Given the description of an element on the screen output the (x, y) to click on. 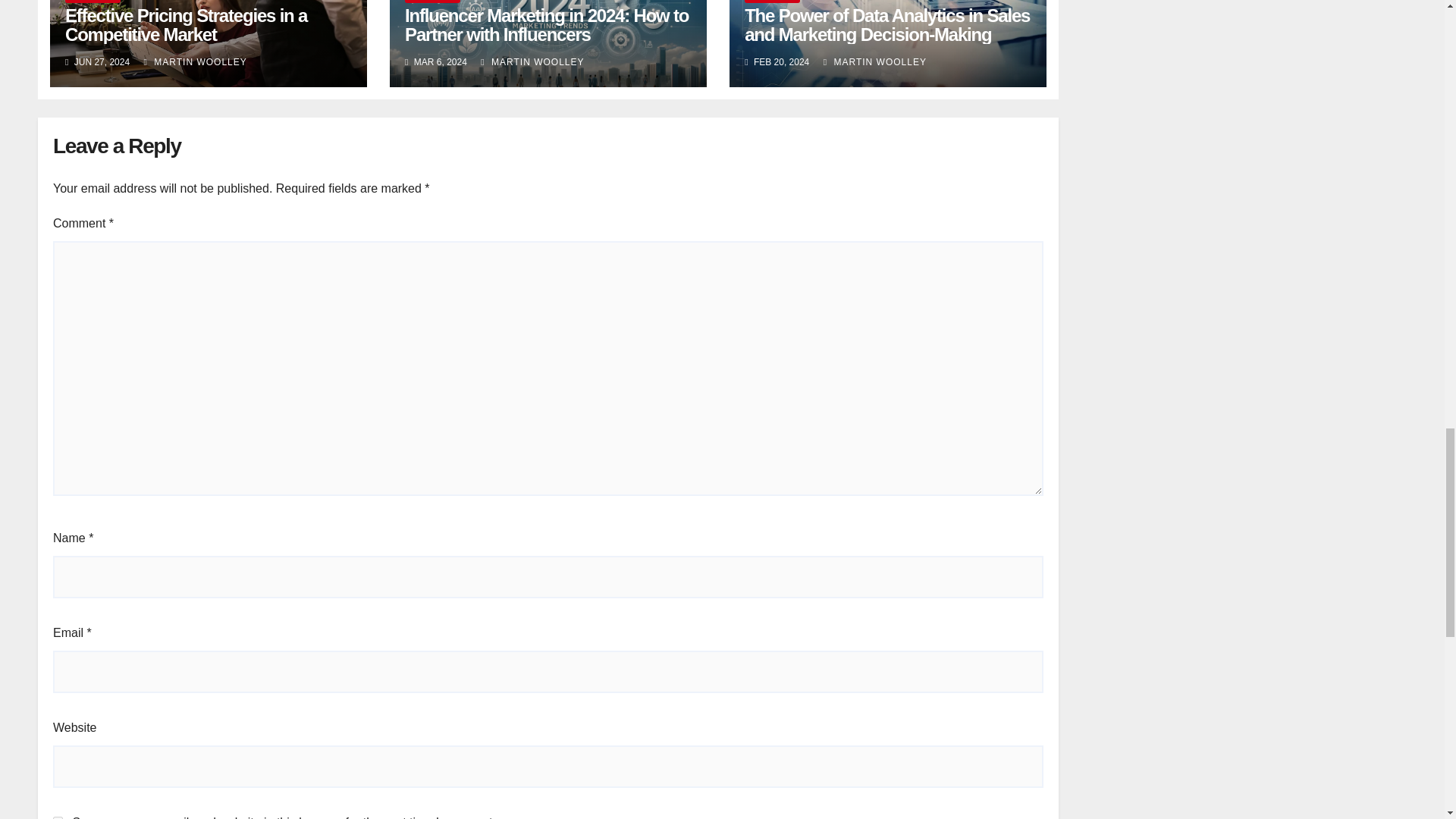
MARKETING (92, 1)
Effective Pricing Strategies in a Competitive Market (186, 24)
MARTIN WOOLLEY (875, 61)
MARKETING (432, 1)
MARTIN WOOLLEY (195, 61)
MARTIN WOOLLEY (531, 61)
MARKETING (771, 1)
